Given the description of an element on the screen output the (x, y) to click on. 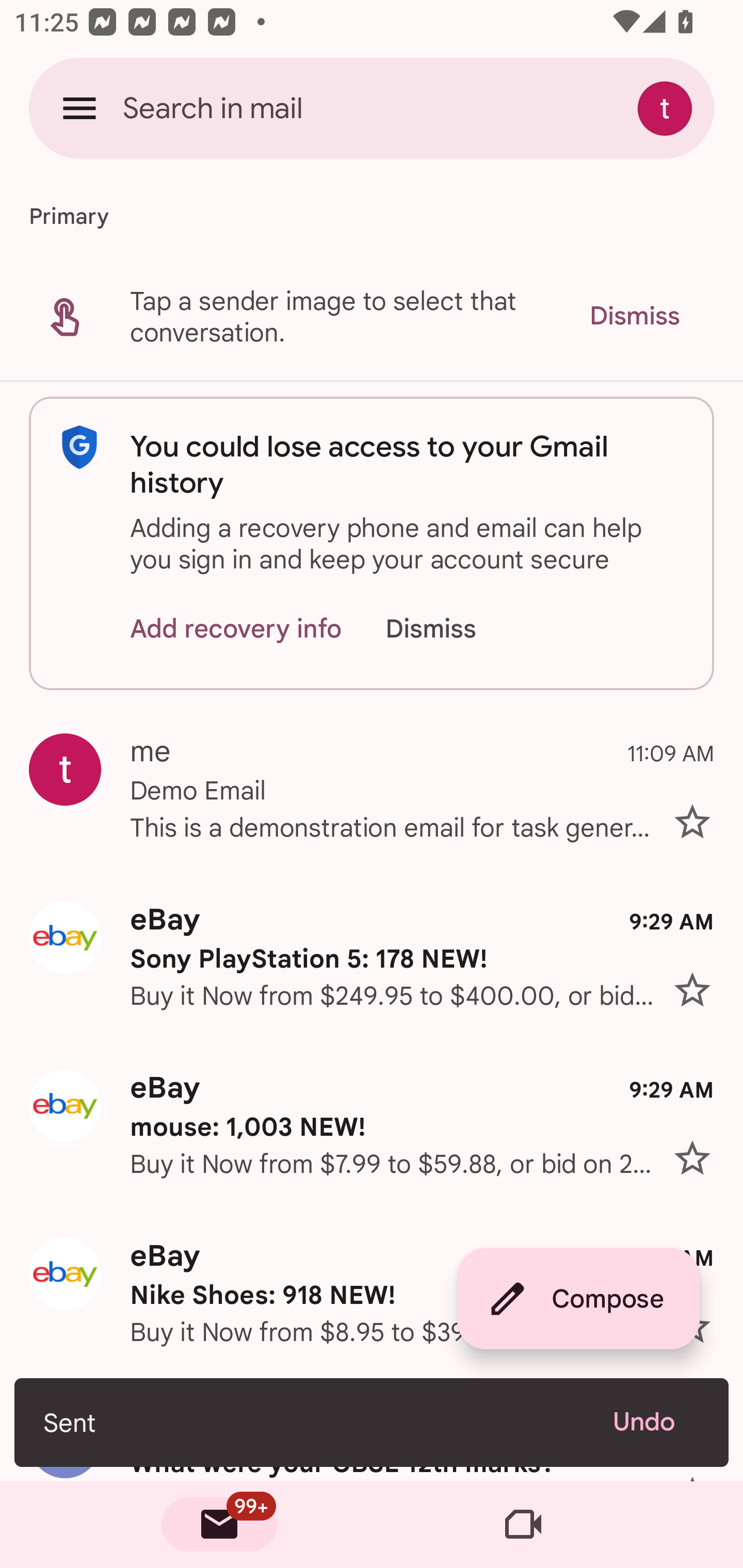
Open navigation drawer (79, 108)
Dismiss Dismiss tip (634, 315)
Add recovery info (235, 628)
Dismiss (449, 628)
Compose (577, 1299)
Undo (655, 1422)
Meet (523, 1524)
